Given the description of an element on the screen output the (x, y) to click on. 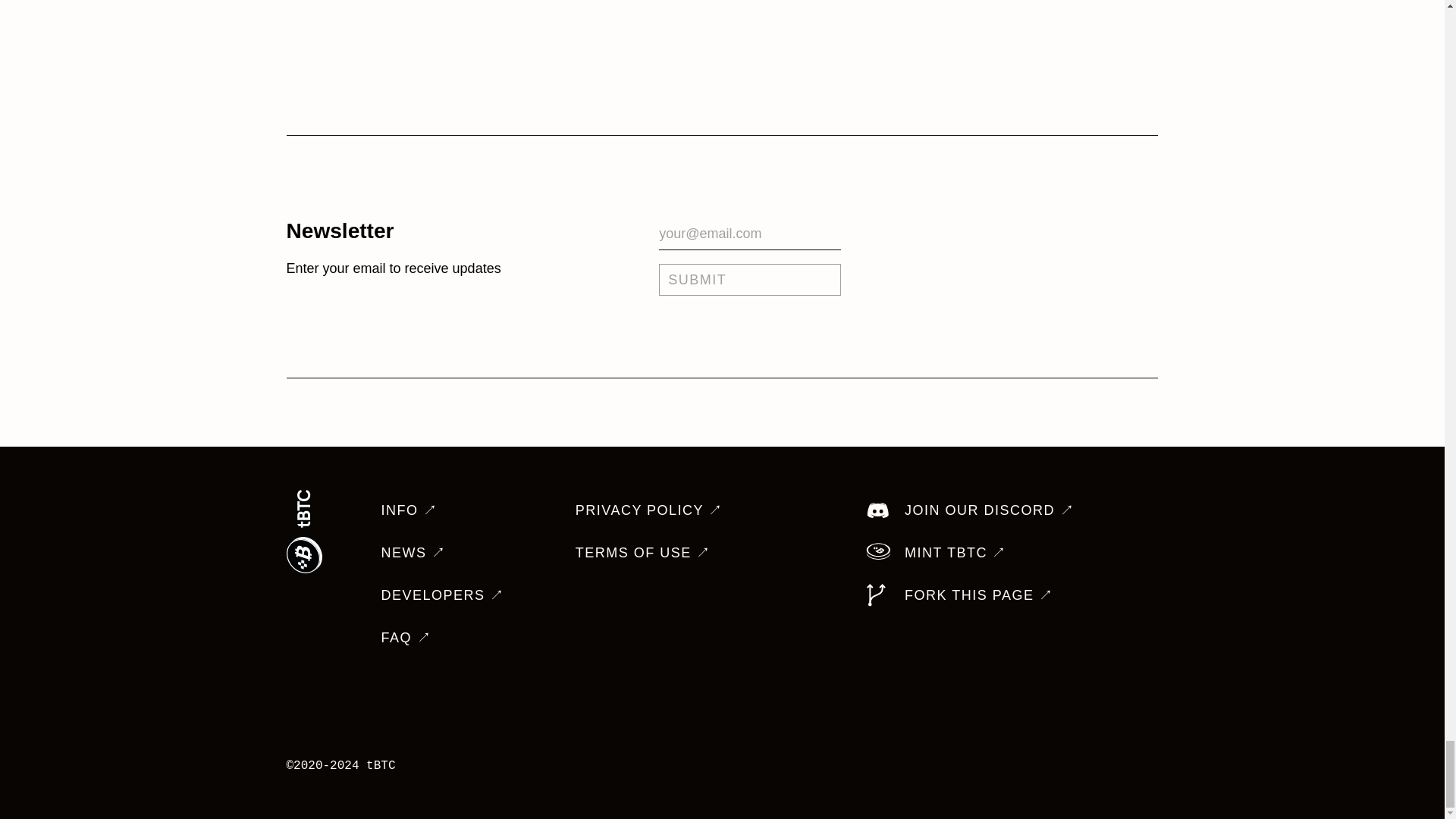
TERMS OF USE (643, 552)
DEVELOPERS (441, 595)
JOIN OUR DISCORD (970, 509)
INFO (409, 509)
Submit (750, 279)
FAQ (405, 637)
Submit (750, 279)
PRIVACY POLICY (649, 509)
NEWS (412, 552)
